Given the description of an element on the screen output the (x, y) to click on. 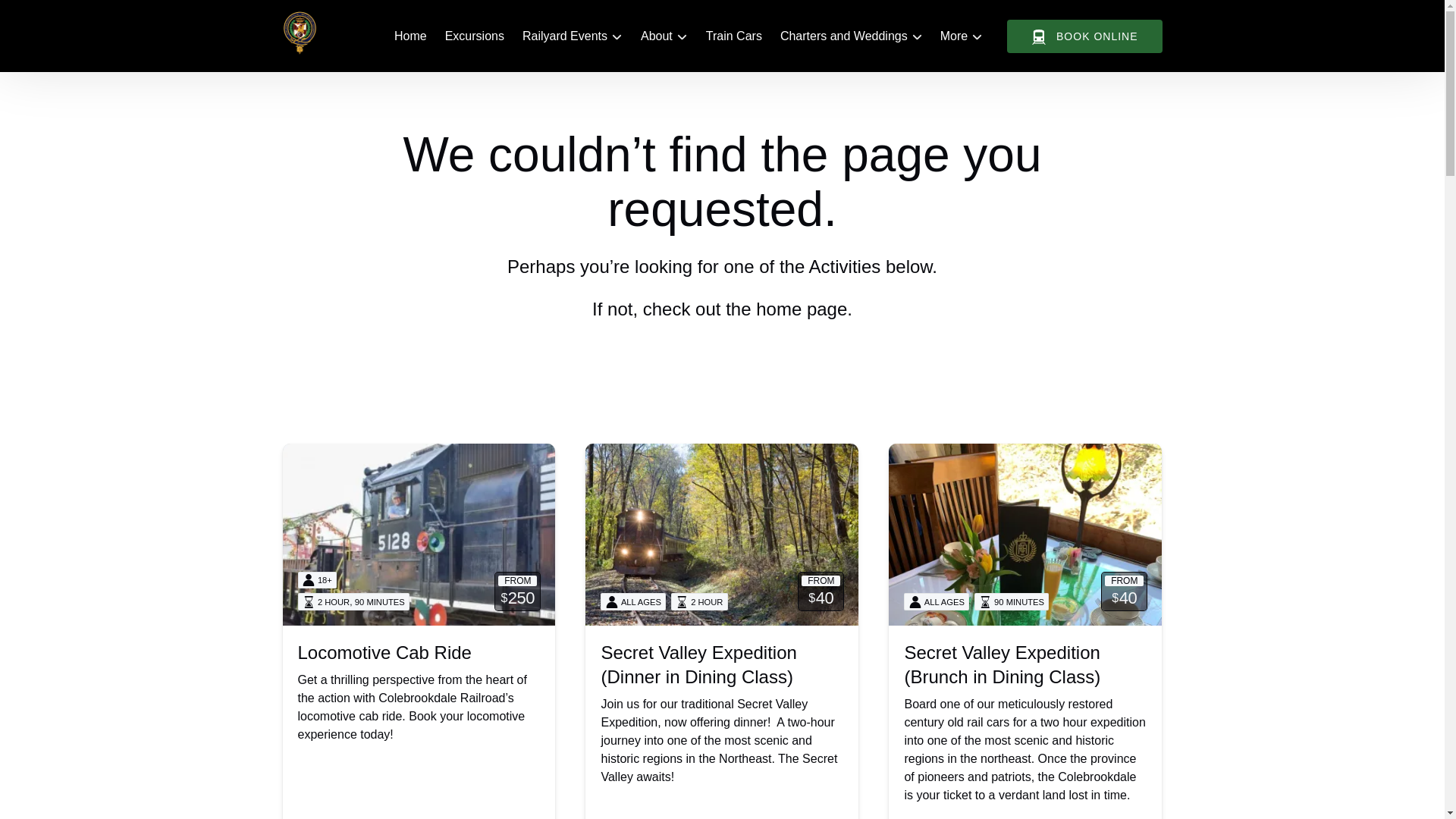
Open More Menu (965, 32)
Open About Menu (668, 32)
Charters and Weddings (851, 35)
About (664, 35)
Skip to primary navigation (77, 16)
Skip to footer (42, 16)
Home (410, 35)
Railyard Events (572, 35)
TRAIN (1038, 37)
Skip to content (47, 16)
